Given the description of an element on the screen output the (x, y) to click on. 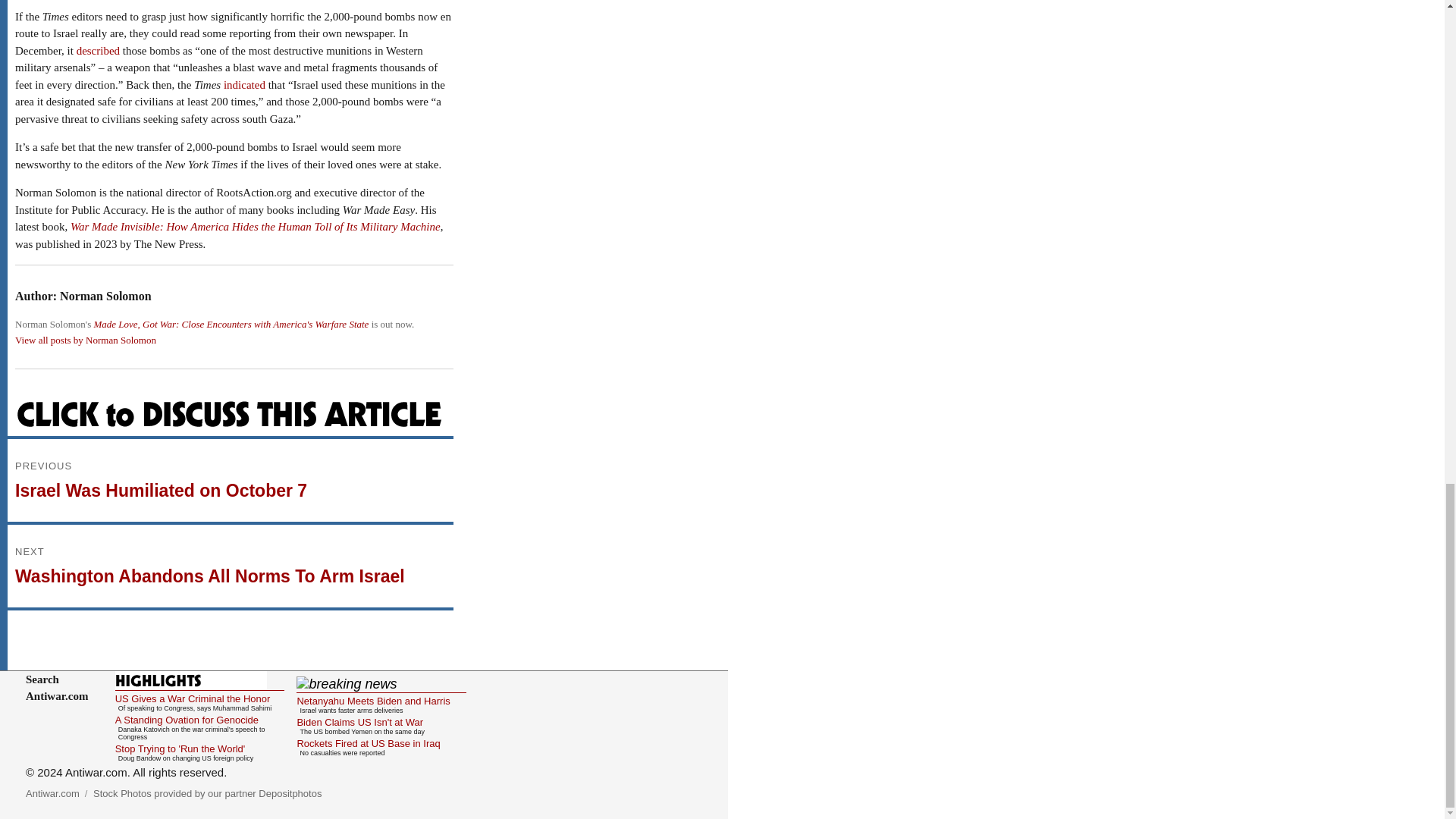
indicated (244, 84)
described (98, 50)
